Given the description of an element on the screen output the (x, y) to click on. 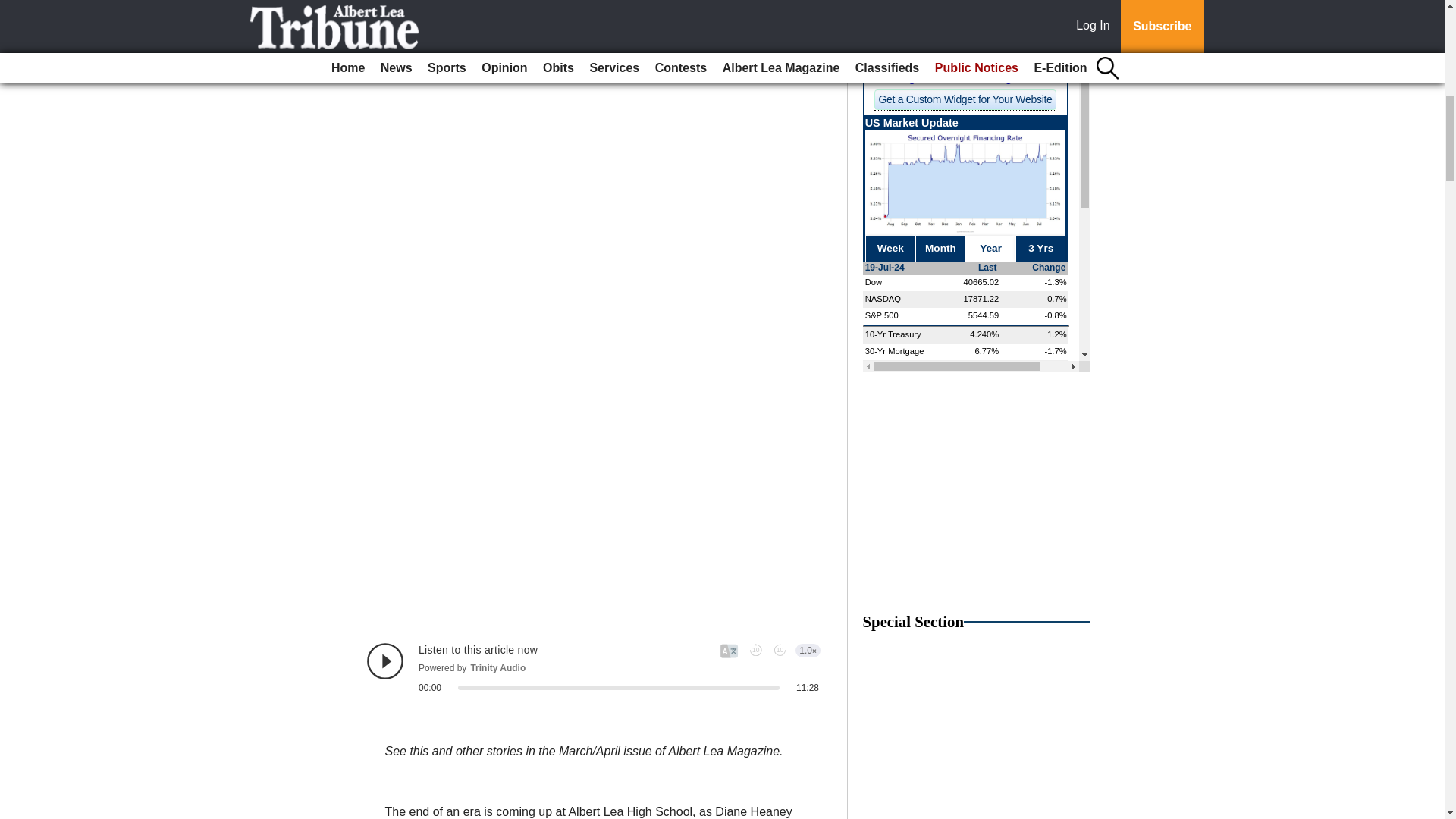
Trinity Audio Player (592, 668)
